Given the description of an element on the screen output the (x, y) to click on. 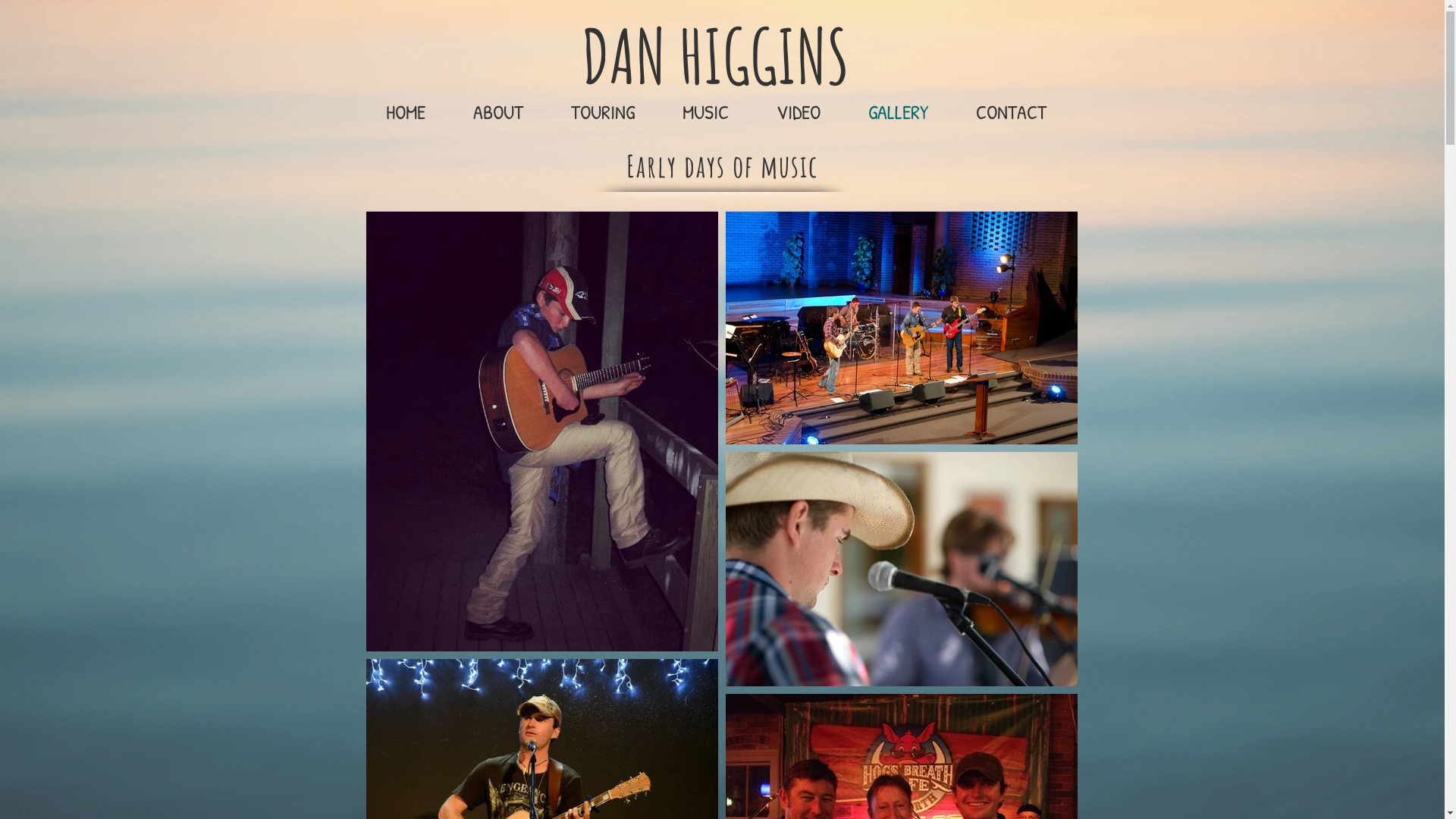
HOME Element type: text (404, 111)
GALLERY Element type: text (898, 111)
CONTACT Element type: text (1011, 111)
DAN HIGGINS Element type: text (714, 59)
VIDEO Element type: text (798, 111)
ABOUT Element type: text (497, 111)
TOURING Element type: text (602, 111)
MUSIC Element type: text (705, 111)
